Given the description of an element on the screen output the (x, y) to click on. 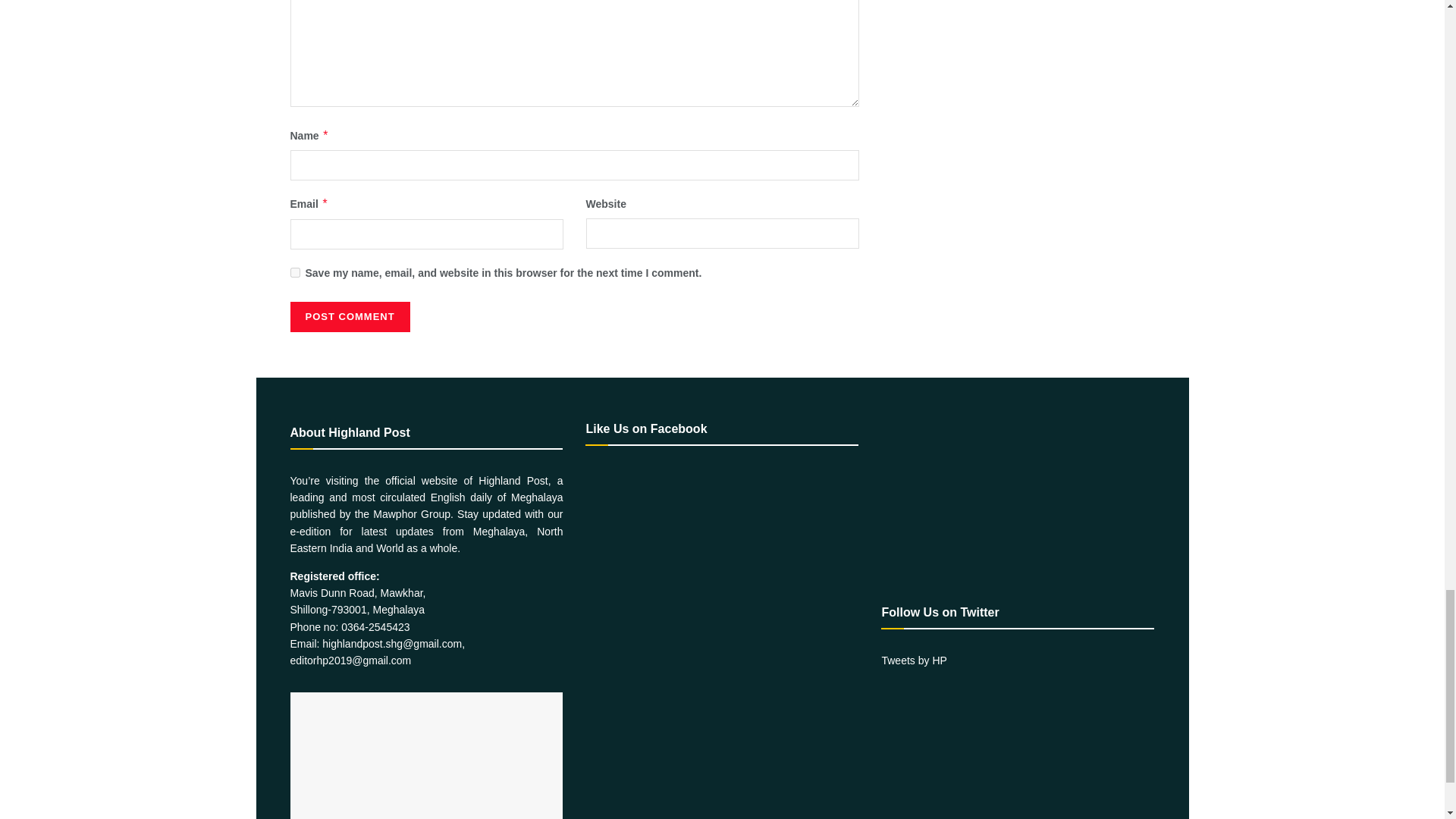
Post Comment (349, 317)
yes (294, 272)
